Given the description of an element on the screen output the (x, y) to click on. 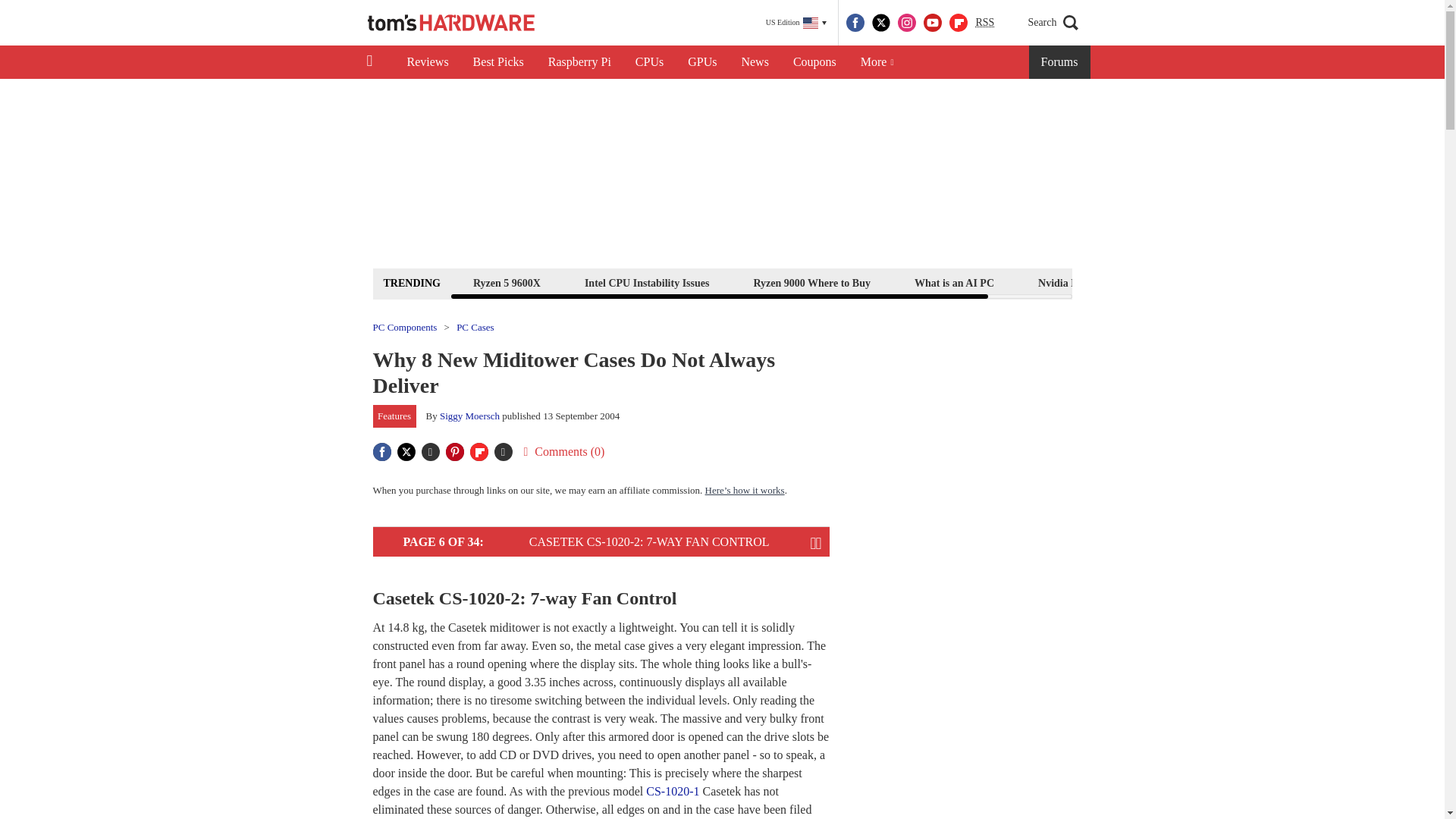
Really Simple Syndication (984, 21)
RSS (984, 22)
News (754, 61)
Raspberry Pi (579, 61)
Forums (1059, 61)
Ryzen 5 9600X (506, 282)
CPUs (649, 61)
GPUs (702, 61)
Coupons (814, 61)
US Edition (796, 22)
